Given the description of an element on the screen output the (x, y) to click on. 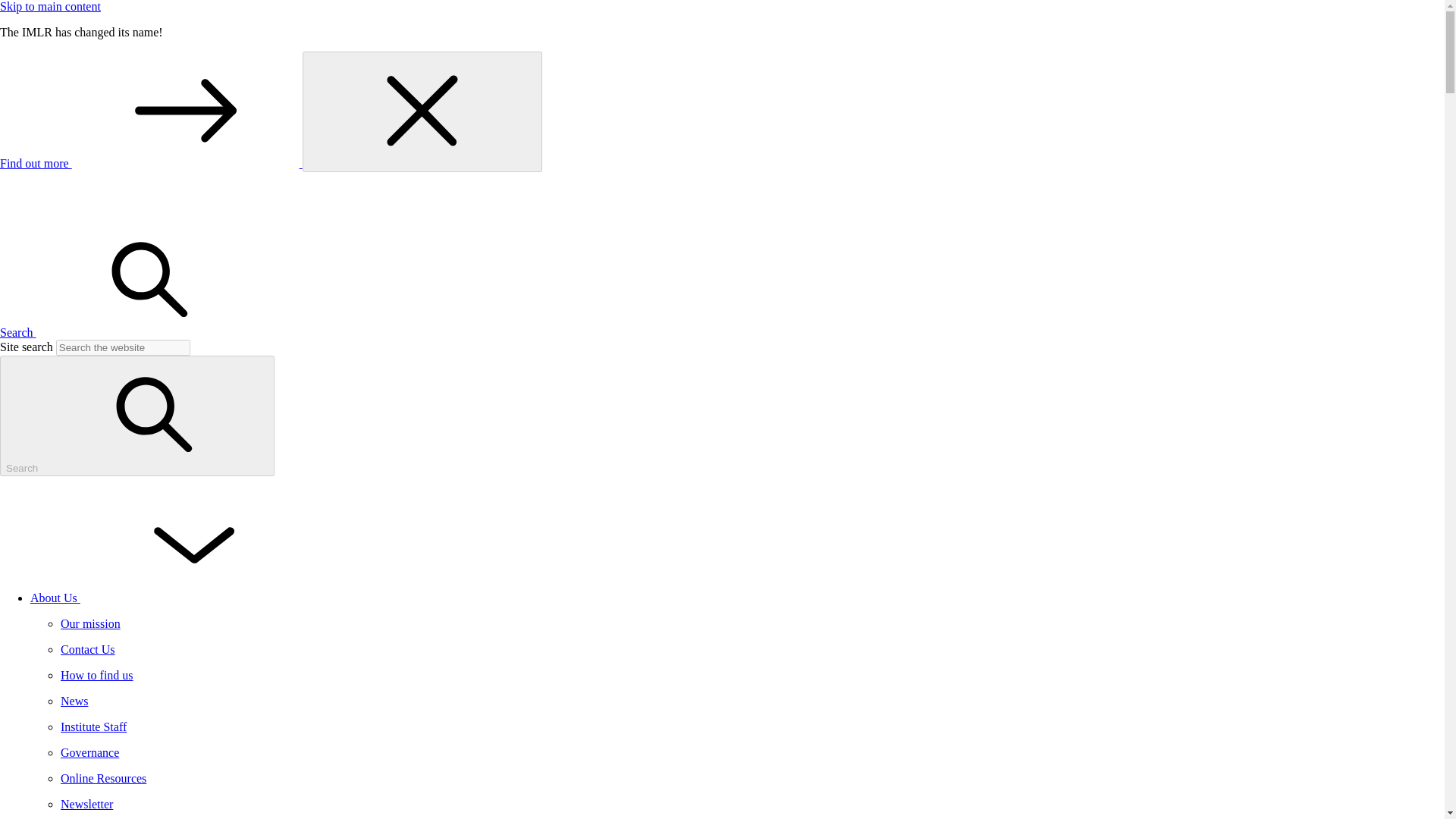
Search (137, 415)
About Us (168, 597)
Skip to main content (50, 6)
Find out more (151, 163)
Link opens in new window (151, 163)
Search (131, 332)
Home (113, 215)
